Given the description of an element on the screen output the (x, y) to click on. 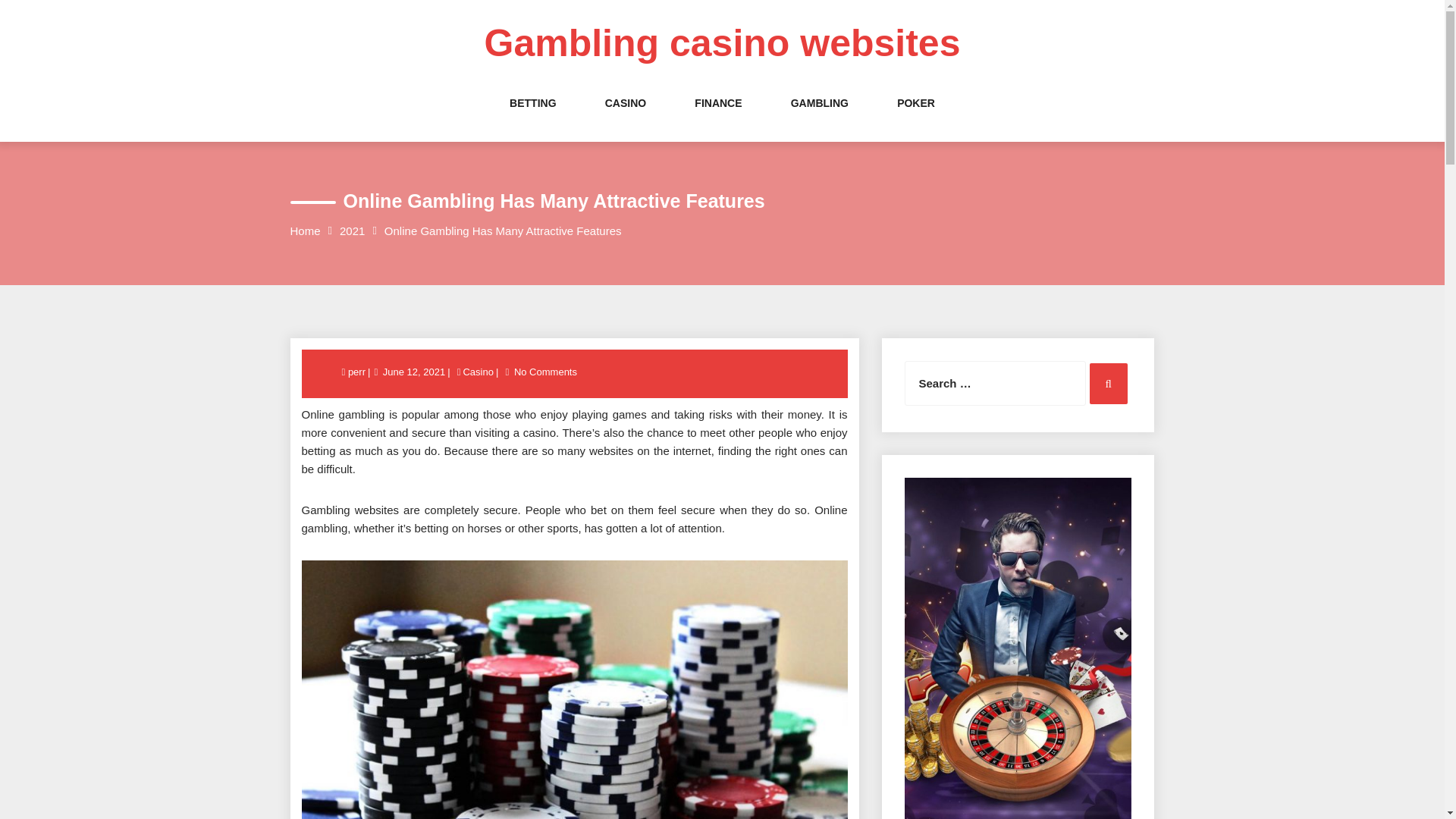
FINANCE (717, 118)
GAMBLING (819, 118)
perr (357, 371)
BETTING (532, 118)
2021 (352, 230)
Search (1107, 383)
Home (304, 230)
No Comments (545, 371)
June 12, 2021 (413, 371)
Gambling casino websites (722, 43)
